Given the description of an element on the screen output the (x, y) to click on. 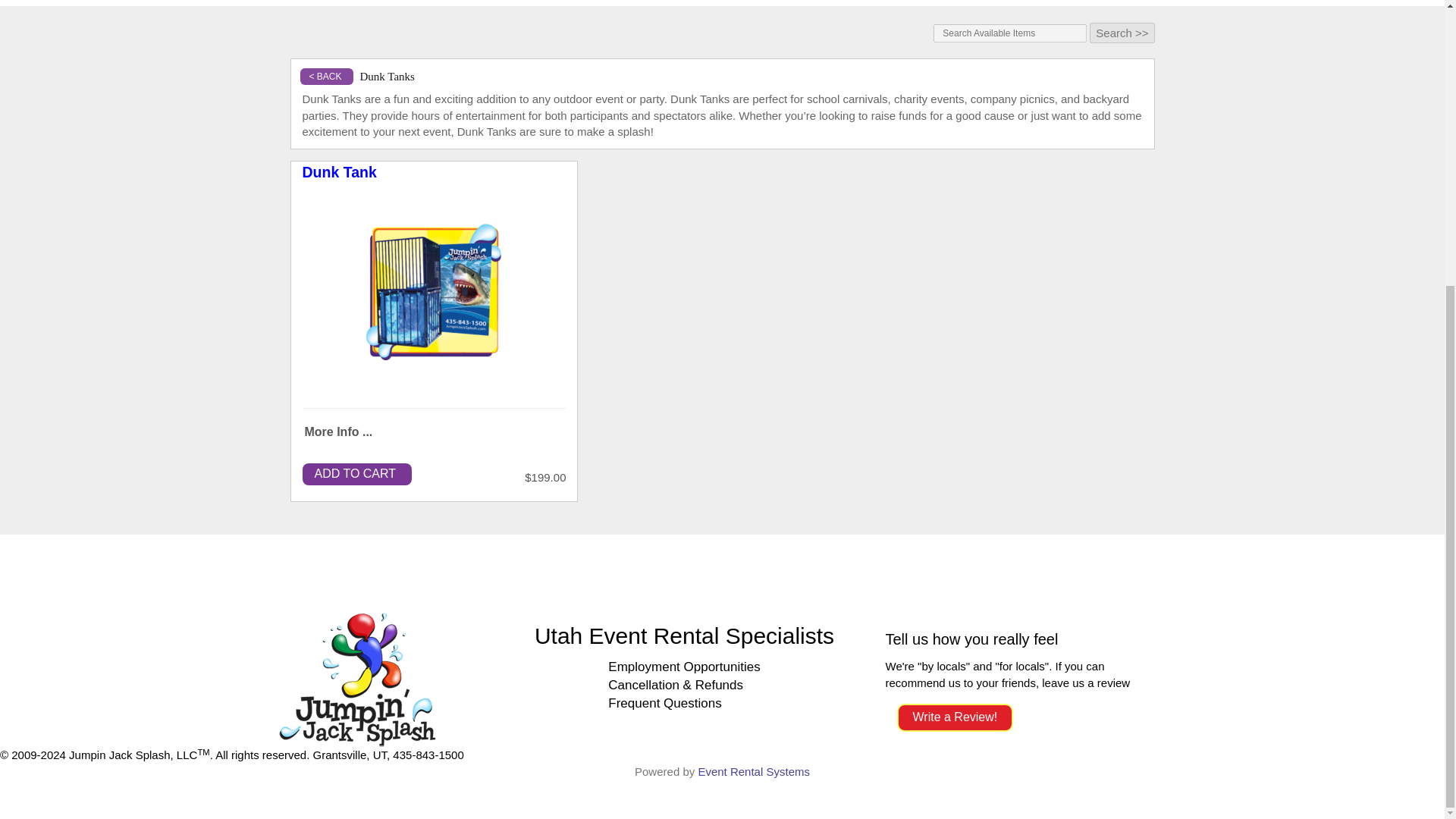
Dunk Tank  (433, 291)
